Given the description of an element on the screen output the (x, y) to click on. 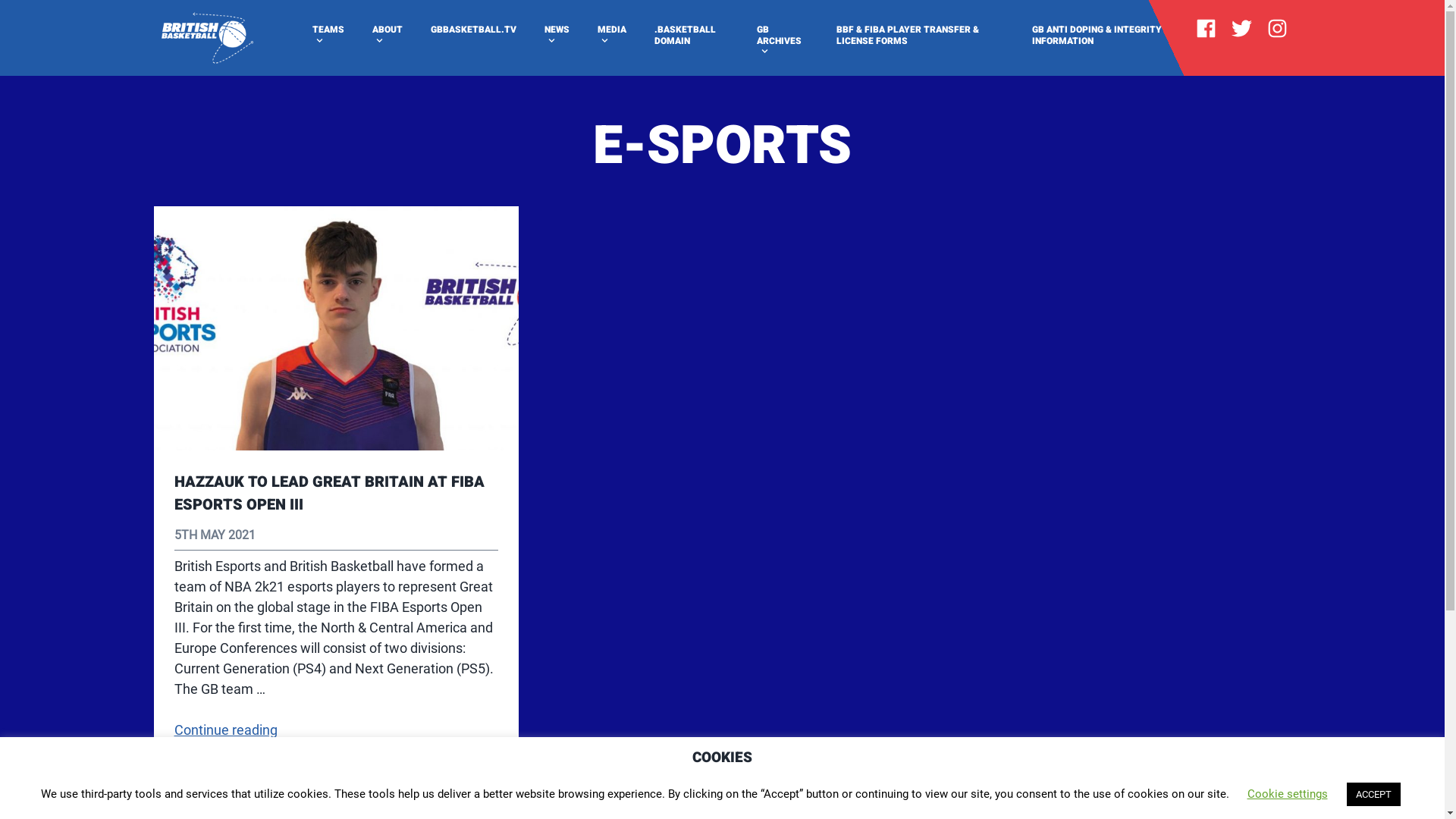
BBF & FIBA PLAYER TRANSFER & LICENSE FORMS Element type: text (919, 35)
HAZZAUK TO LEAD GREAT BRITAIN AT FIBA ESPORTS OPEN III Element type: text (329, 492)
GB ANTI DOPING & INTEGRITY INFORMATION Element type: text (1106, 35)
Skip to content Element type: text (20, 7)
FACEBOOK Element type: text (1206, 29)
NEWS Element type: text (556, 35)
MEDIA Element type: text (611, 35)
GB ARCHIVES Element type: text (782, 40)
Search Element type: text (37, 17)
ABOUT Element type: text (386, 35)
INSTAGRAM Element type: text (1277, 29)
TWITTER Element type: text (1240, 29)
ACCEPT Element type: text (1373, 794)
Cookie settings Element type: text (1286, 793)
.BASKETBALL DOMAIN Element type: text (691, 35)
TEAMS Element type: text (327, 35)
GBBASKETBALL.TV Element type: text (473, 29)
British Basketball Element type: text (214, 79)
